Given the description of an element on the screen output the (x, y) to click on. 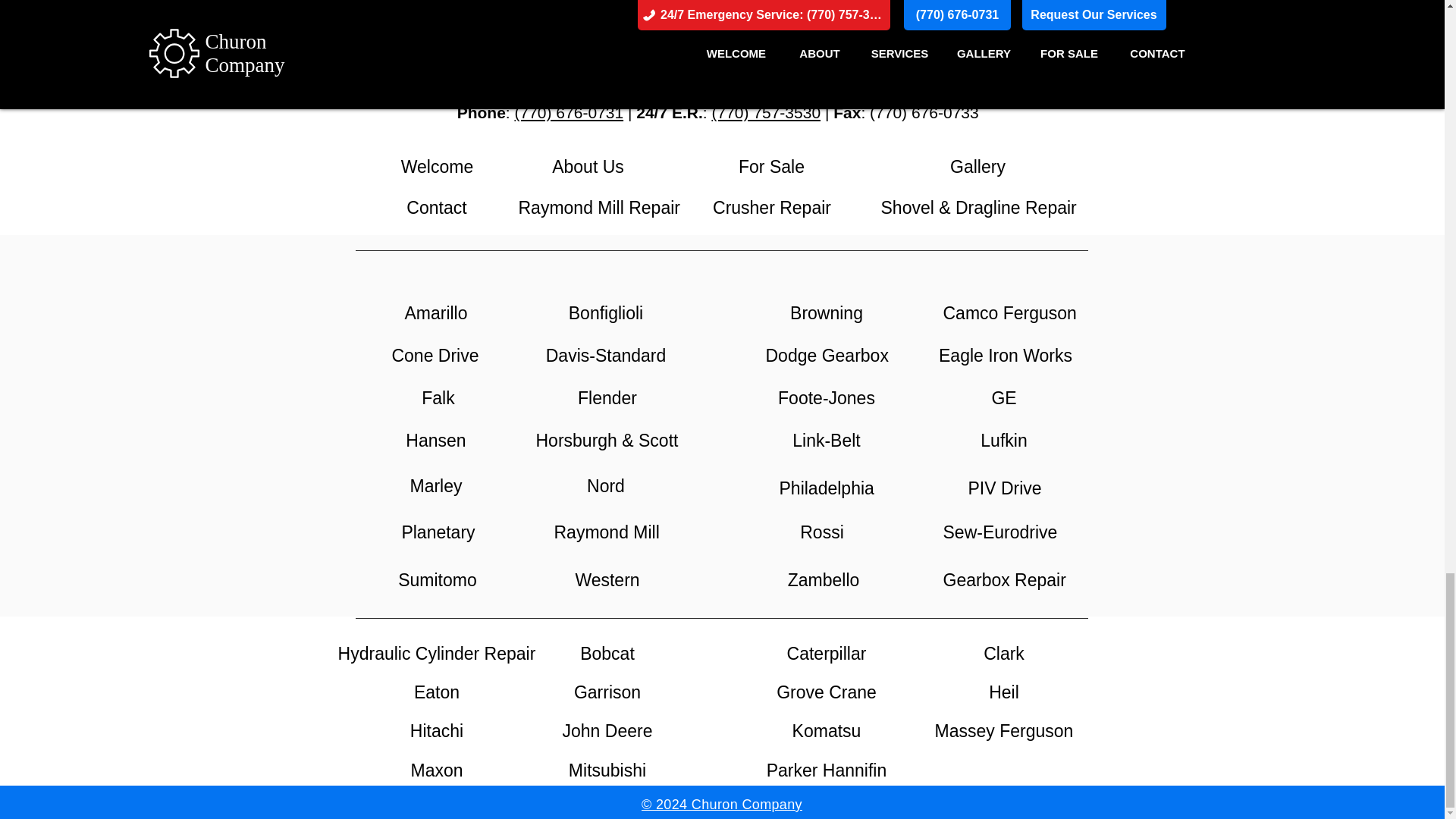
Address: (594, 76)
